Given the description of an element on the screen output the (x, y) to click on. 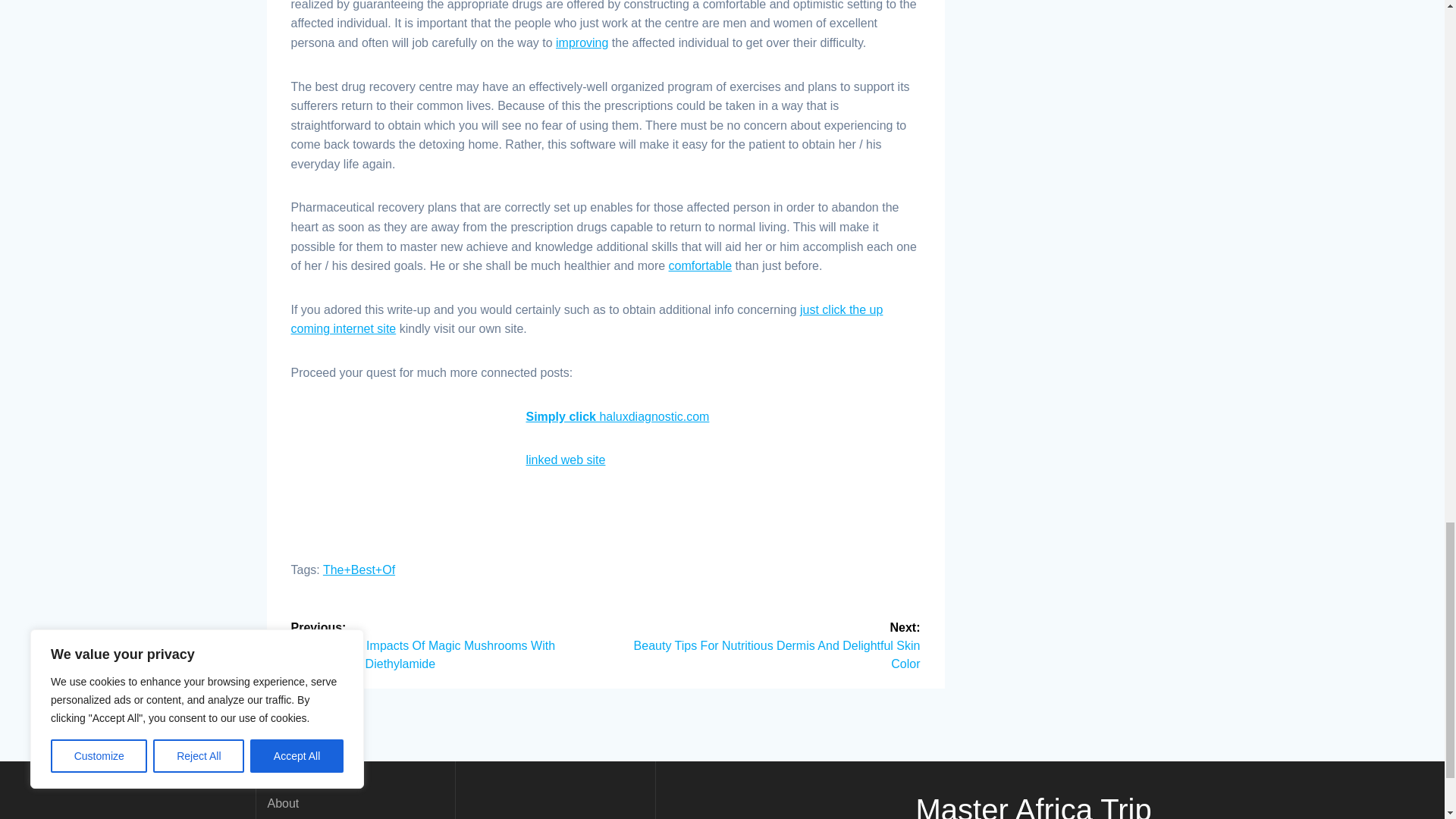
improving (582, 42)
comfortable (700, 265)
linked web site (565, 459)
just click the up coming internet site (587, 319)
Simply click haluxdiagnostic.com (617, 416)
